Given the description of an element on the screen output the (x, y) to click on. 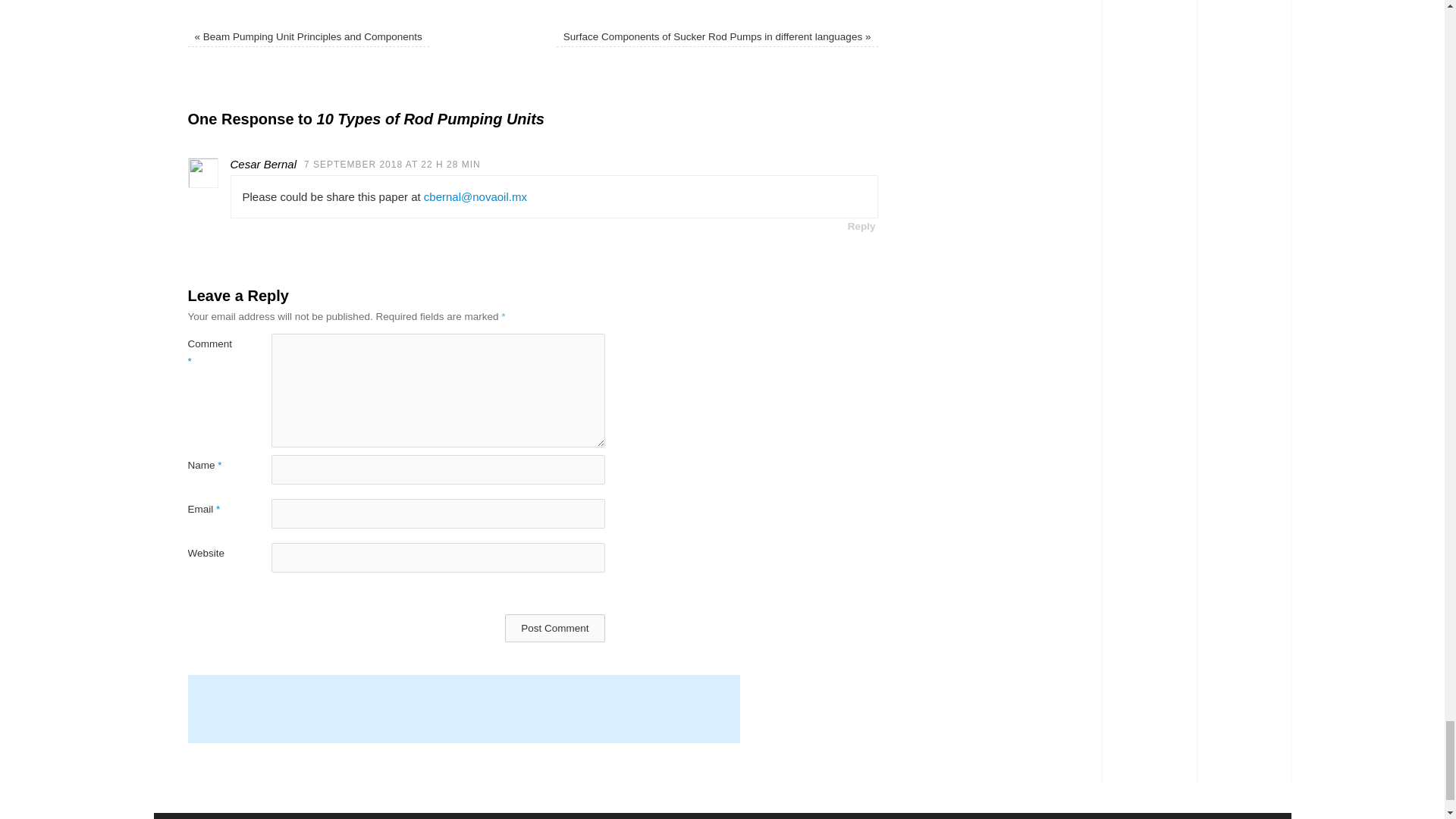
Post Comment (554, 628)
